Given the description of an element on the screen output the (x, y) to click on. 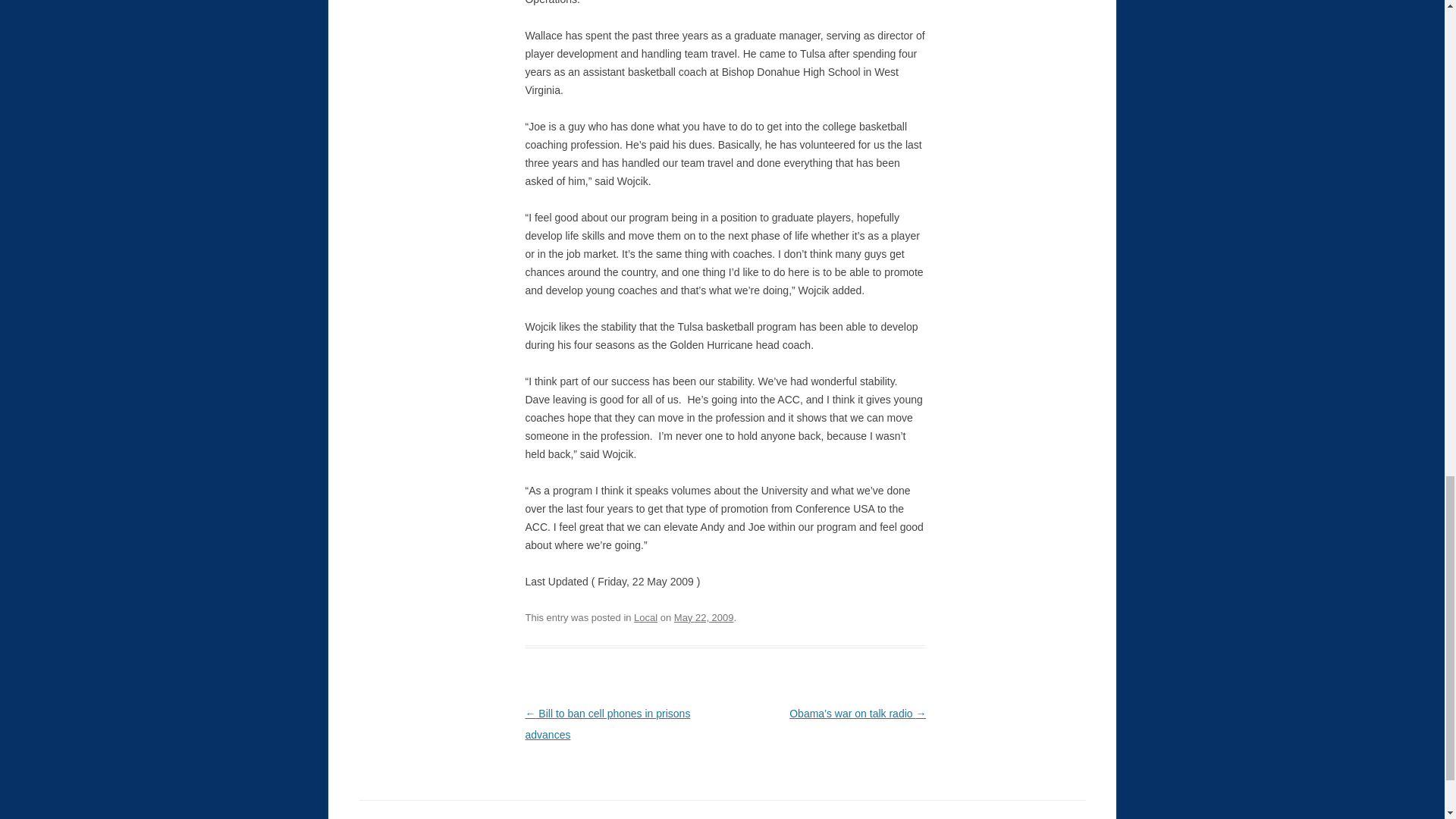
6:00 am (703, 617)
May 22, 2009 (703, 617)
Local (645, 617)
